Given the description of an element on the screen output the (x, y) to click on. 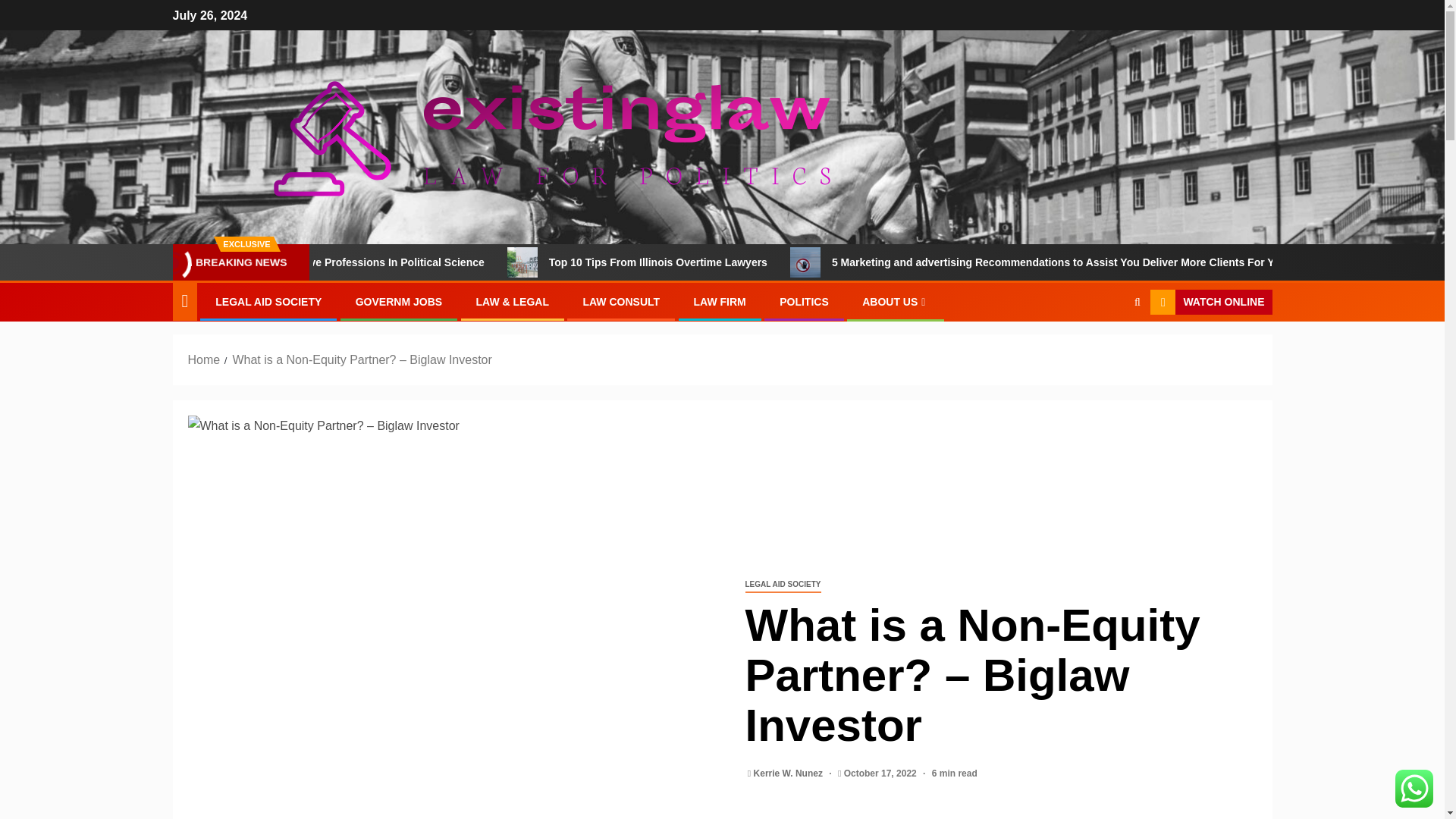
Home (204, 359)
GOVERNM JOBS (398, 301)
WATCH ONLINE (1210, 302)
LEGAL AID SOCIETY (782, 584)
POLITICS (803, 301)
ABOUT US (894, 301)
LAW FIRM (719, 301)
Top 10 Tips From Illinois Overtime Lawyers (595, 262)
LAW CONSULT (620, 301)
Top 10 Tips From Illinois Overtime Lawyers (756, 262)
Kerrie W. Nunez (789, 773)
Search (1107, 348)
LEGAL AID SOCIETY (268, 301)
5 Most effective Professions In Political Science (463, 262)
